Given the description of an element on the screen output the (x, y) to click on. 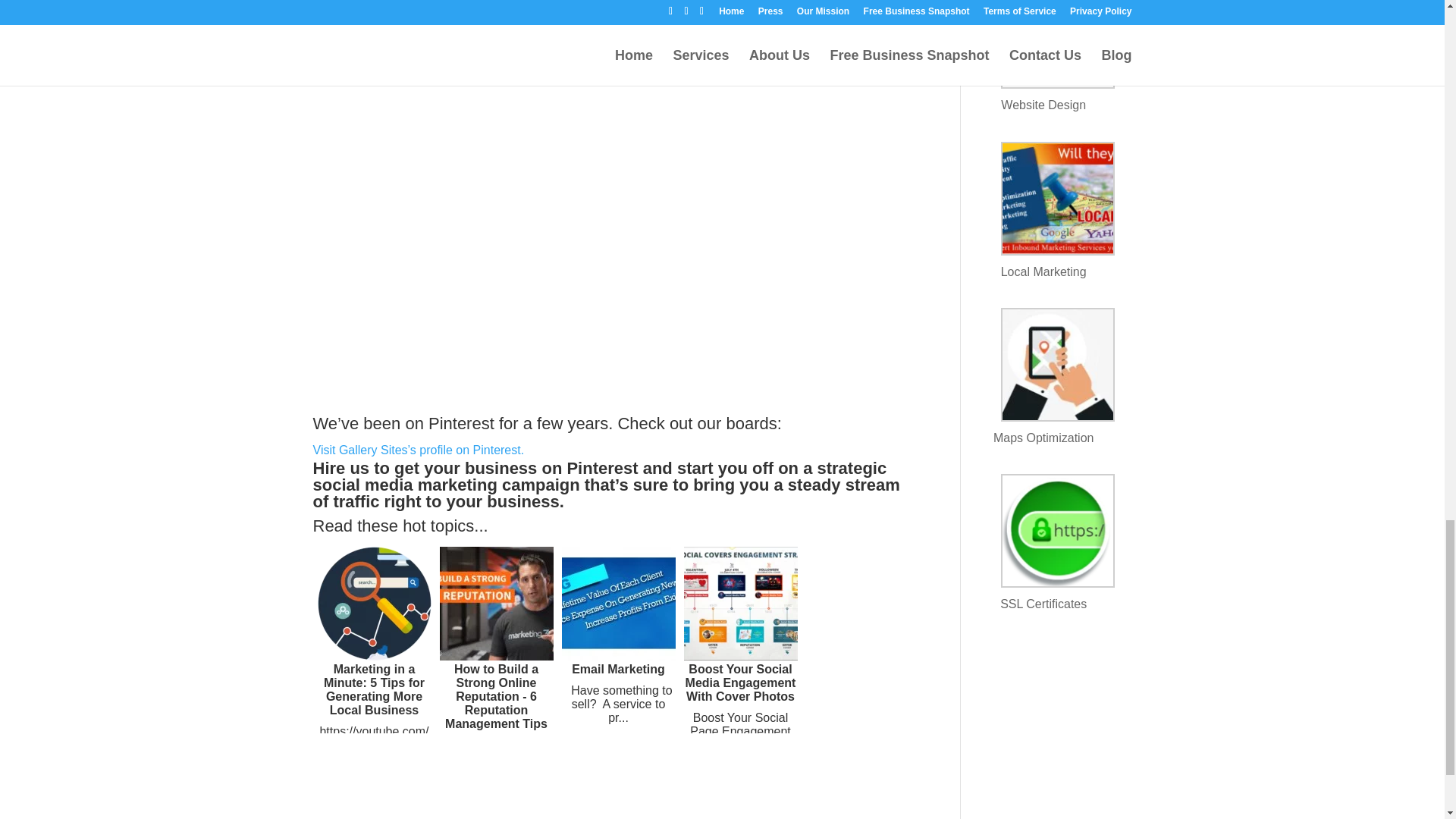
social media (362, 484)
MDG Advertising (555, 18)
Social Media (362, 484)
